Given the description of an element on the screen output the (x, y) to click on. 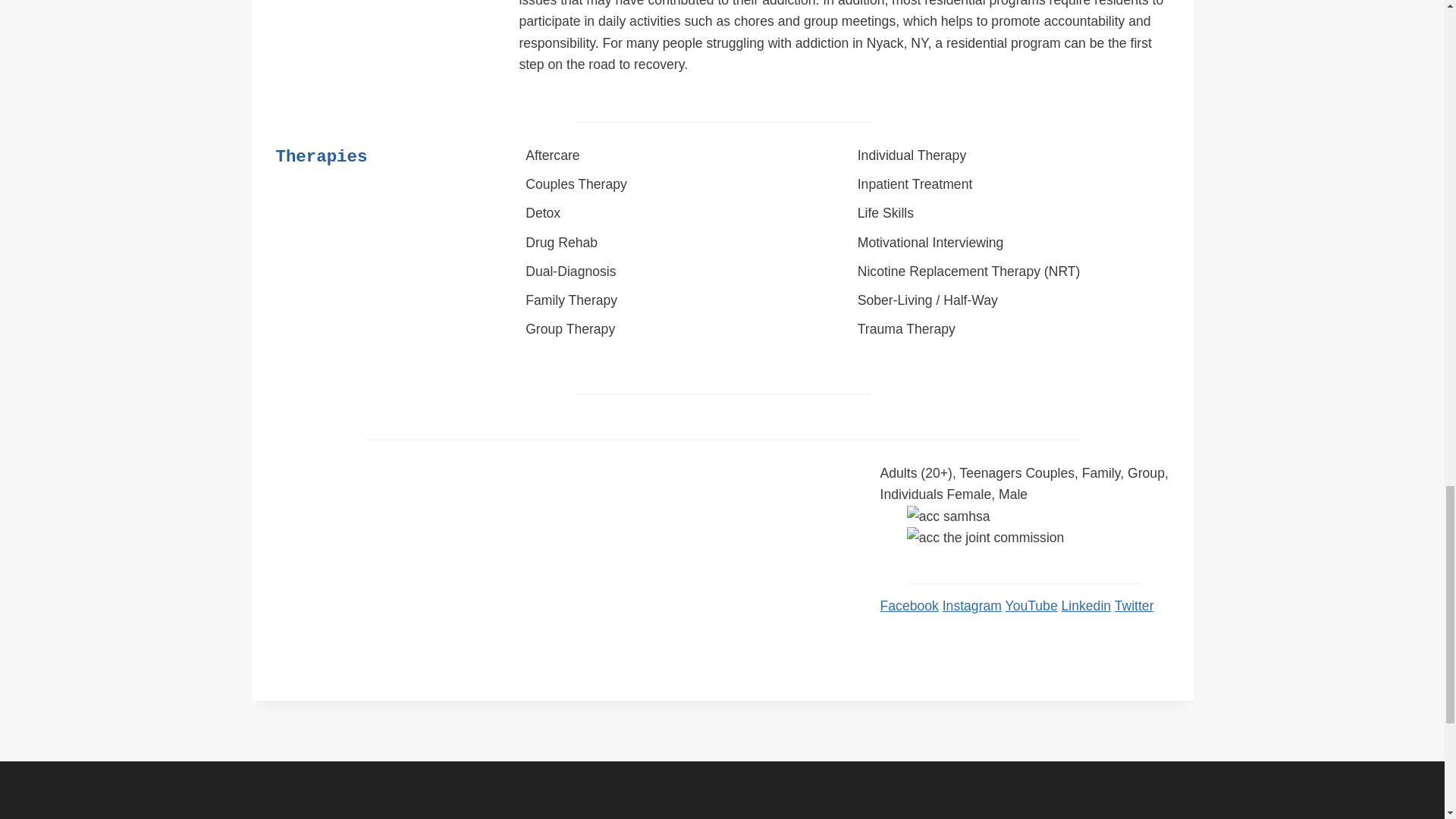
Instagram (971, 605)
Facebook (909, 605)
Facebook (909, 605)
YouTube (1032, 605)
Linkedin (1086, 605)
YouTube (1032, 605)
Recovery Center - Chemical Dependency 1 (1038, 516)
Twitter (1134, 605)
Twitter (1134, 605)
Instagram (971, 605)
